Given the description of an element on the screen output the (x, y) to click on. 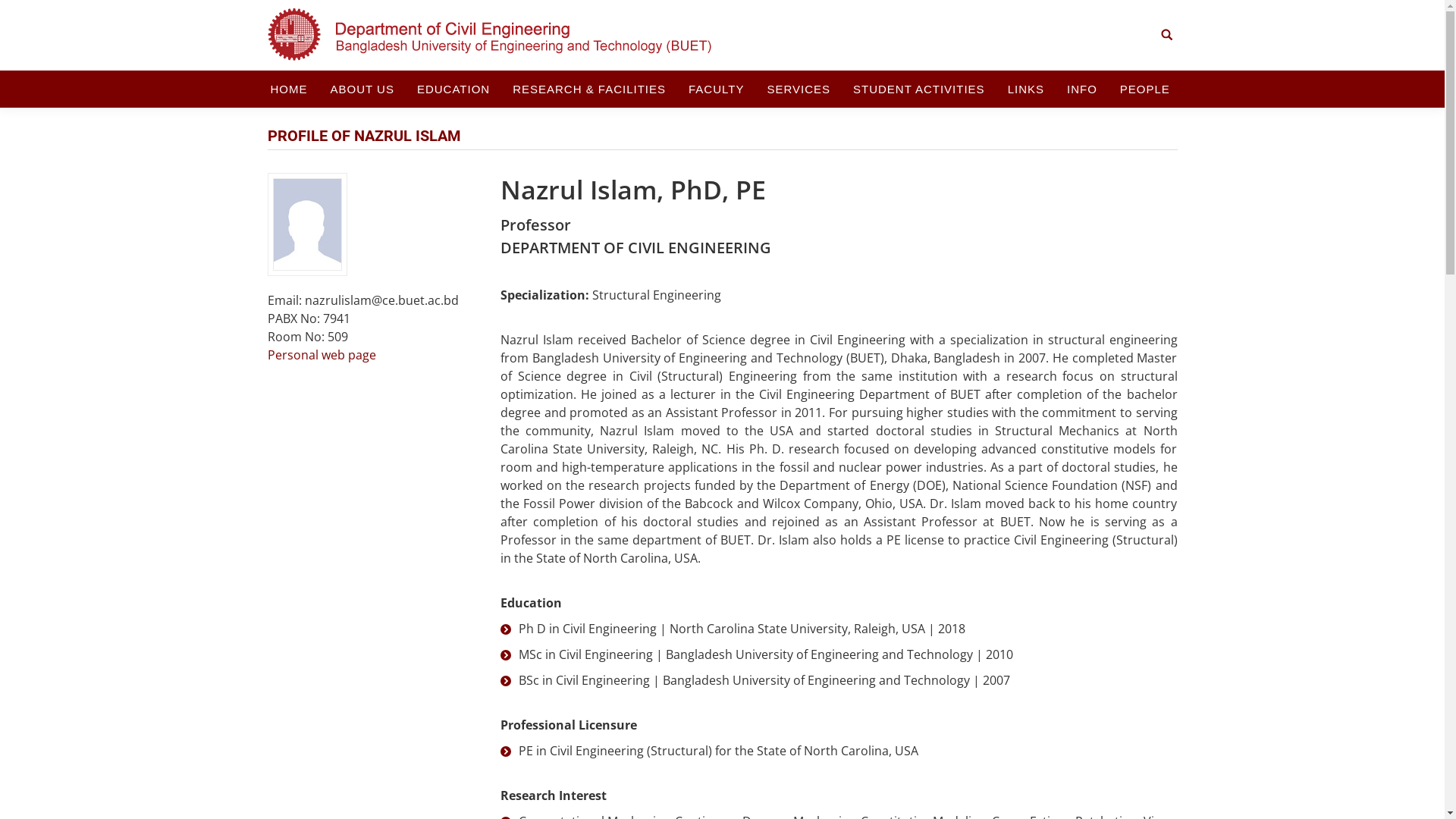
RESEARCH & FACILITIES Element type: text (588, 88)
INFO Element type: text (1081, 88)
  Element type: text (1167, 69)
ABOUT US Element type: text (362, 88)
Go! Element type: text (21, 14)
Personal web page Element type: text (320, 354)
STUDENT ACTIVITIES Element type: text (919, 88)
EDUCATION Element type: text (453, 88)
PEOPLE Element type: text (1145, 88)
LINKS Element type: text (1025, 88)
HOME Element type: text (288, 88)
FACULTY Element type: text (715, 88)
SERVICES Element type: text (798, 88)
